Given the description of an element on the screen output the (x, y) to click on. 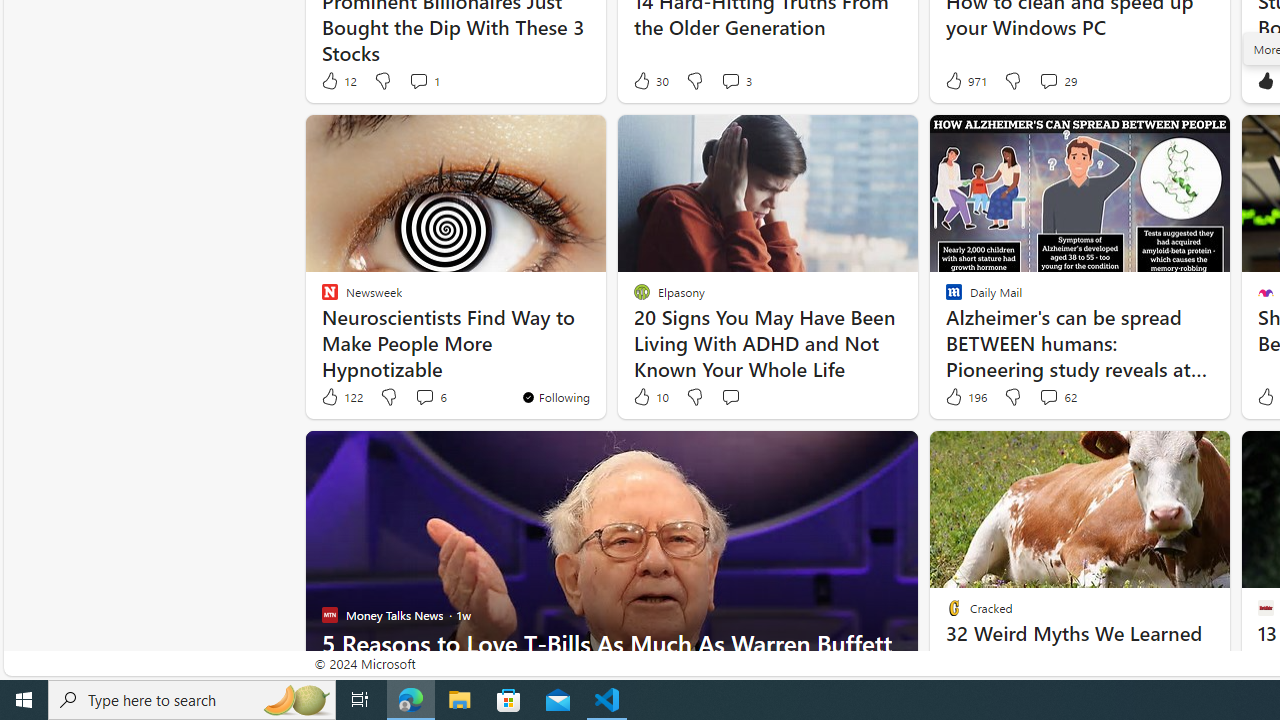
12 Like (337, 80)
View comments 6 Comment (429, 397)
View comments 62 Comment (1048, 396)
30 Like (650, 80)
10 Like (650, 397)
971 Like (964, 80)
You're following Newsweek (555, 396)
View comments 29 Comment (1048, 80)
